Given the description of an element on the screen output the (x, y) to click on. 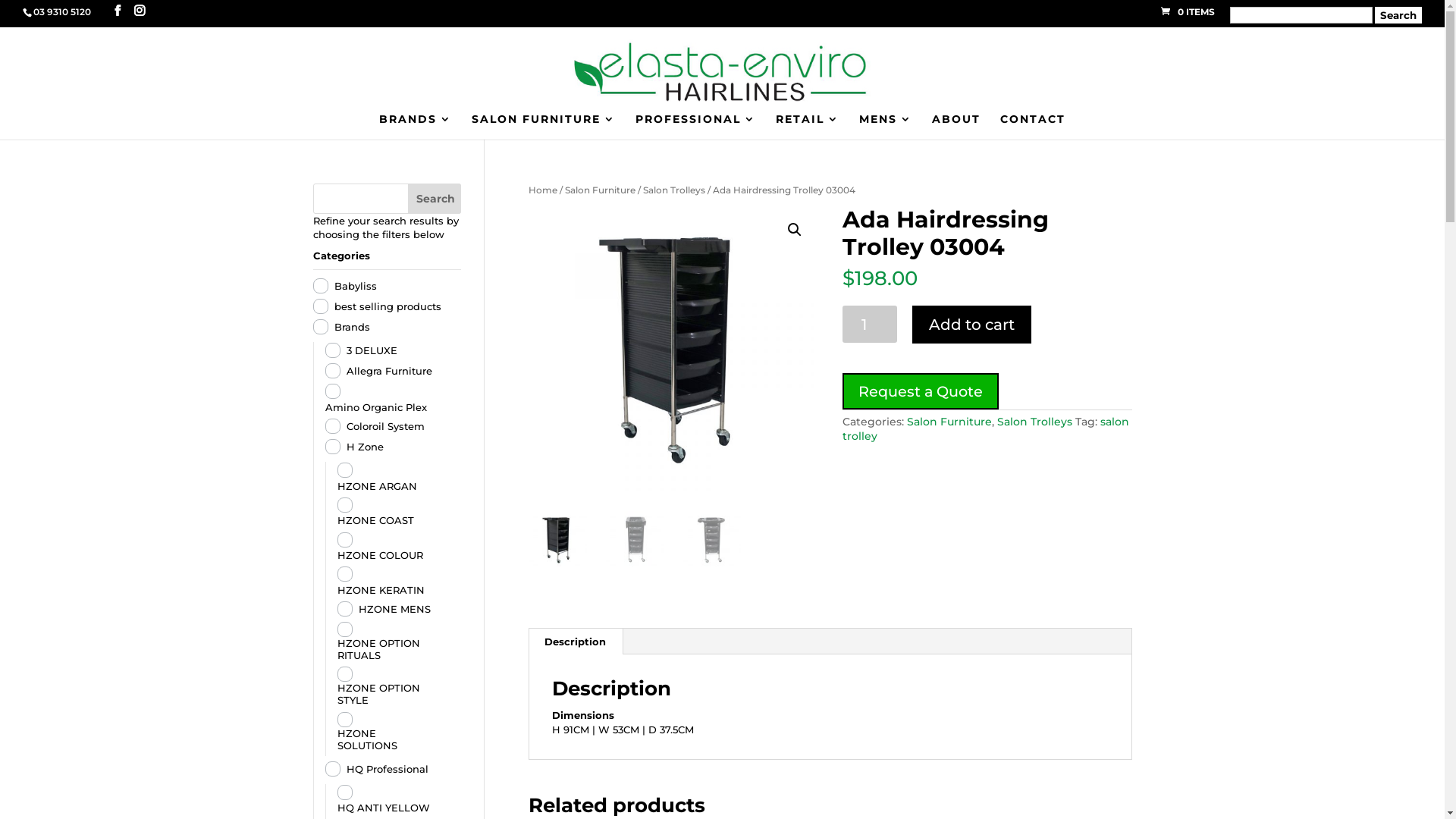
Qty Element type: hover (869, 323)
ABOUT Element type: text (955, 126)
Search Element type: text (434, 198)
Salon Furniture Element type: text (599, 189)
Description Element type: text (574, 641)
salon trolley Element type: text (985, 428)
RETAIL Element type: text (807, 126)
MENS Element type: text (885, 126)
Home Element type: text (542, 189)
Request a Quote Element type: text (920, 391)
CONTACT Element type: text (1032, 126)
SALON FURNITURE Element type: text (543, 126)
0 ITEMS Element type: text (1187, 11)
Salon Trolleys Element type: text (1034, 421)
Add to cart Element type: text (971, 324)
BRANDS Element type: text (415, 126)
Search Element type: text (1397, 14)
Salon Trolleys Element type: text (674, 189)
Salon Furniture Element type: text (948, 421)
ada2 Element type: hover (673, 348)
PROFESSIONAL Element type: text (695, 126)
